Given the description of an element on the screen output the (x, y) to click on. 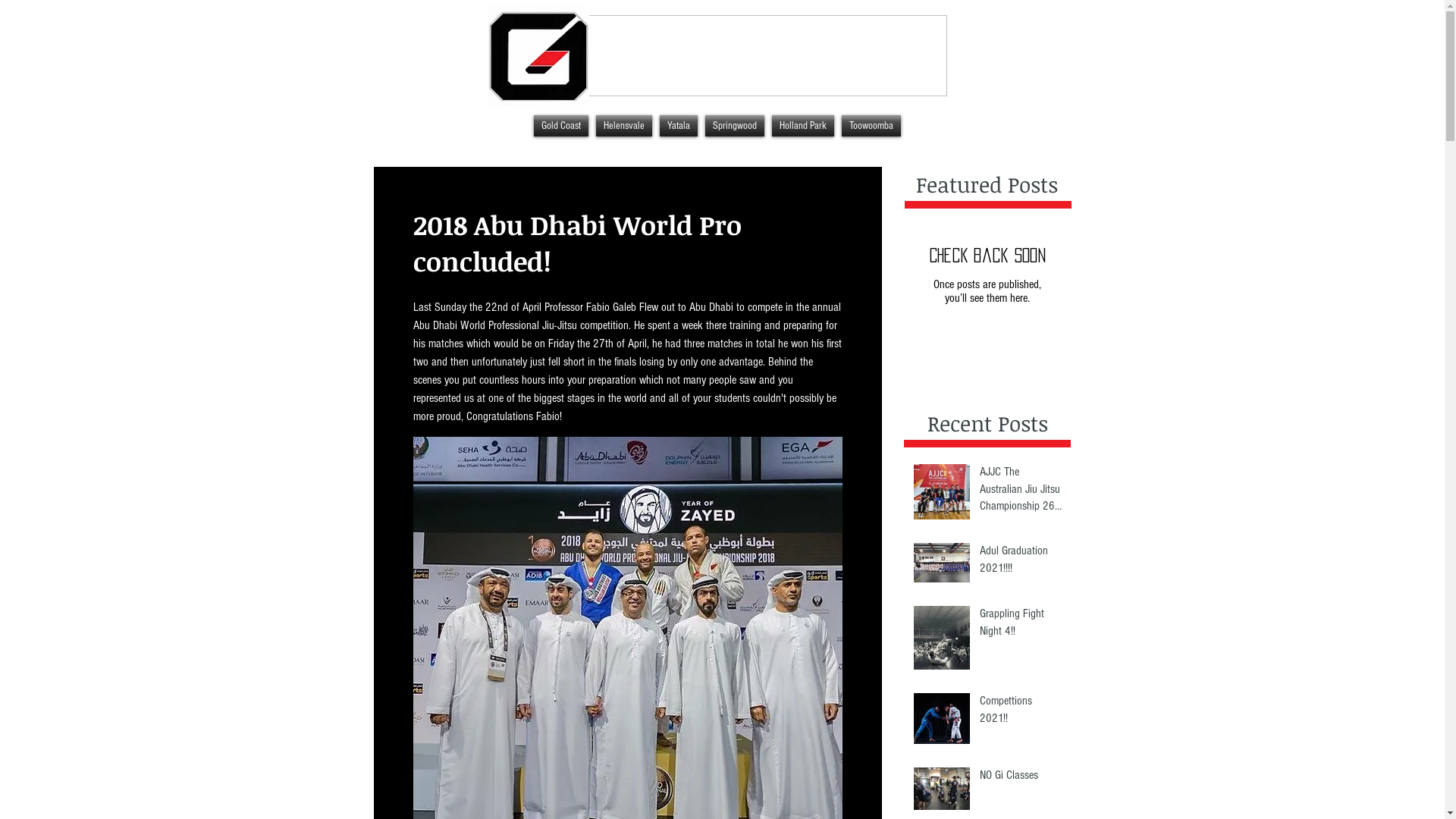
Compettions 2021!! Element type: text (1020, 712)
Adul Graduation 2021!!!! Element type: text (1020, 562)
Yatala Element type: text (677, 125)
Holland Park Element type: text (802, 125)
NO Gi Classes Element type: text (1020, 777)
Grappling Fight Night 4!! Element type: text (1020, 625)
Helensvale Element type: text (623, 125)
Springwood Element type: text (733, 125)
Gold Coast Element type: text (560, 125)
Toowoomba Element type: text (870, 125)
